Given the description of an element on the screen output the (x, y) to click on. 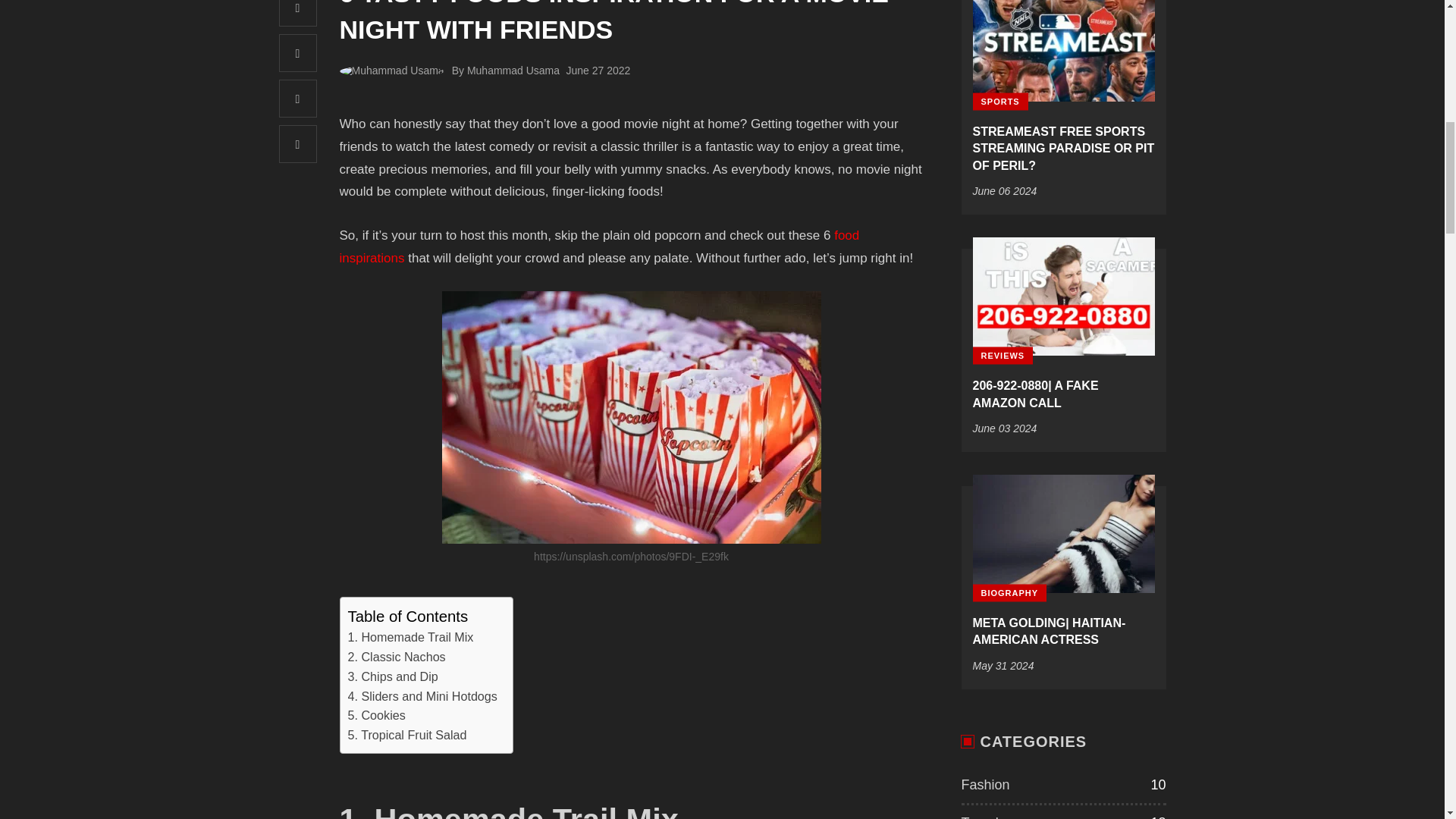
Share on Facebook (298, 13)
1. Homemade Trail Mix (410, 637)
5. Tropical Fruit Salad (406, 735)
3. Chips and Dip (392, 677)
5. Cookies (375, 715)
Share on Twitter (298, 53)
June 27, 2022 at 7:12 am (598, 70)
Share on Pinterest (298, 98)
1. Homemade Trail Mix (410, 637)
By Muhammad Usama (505, 70)
